Given the description of an element on the screen output the (x, y) to click on. 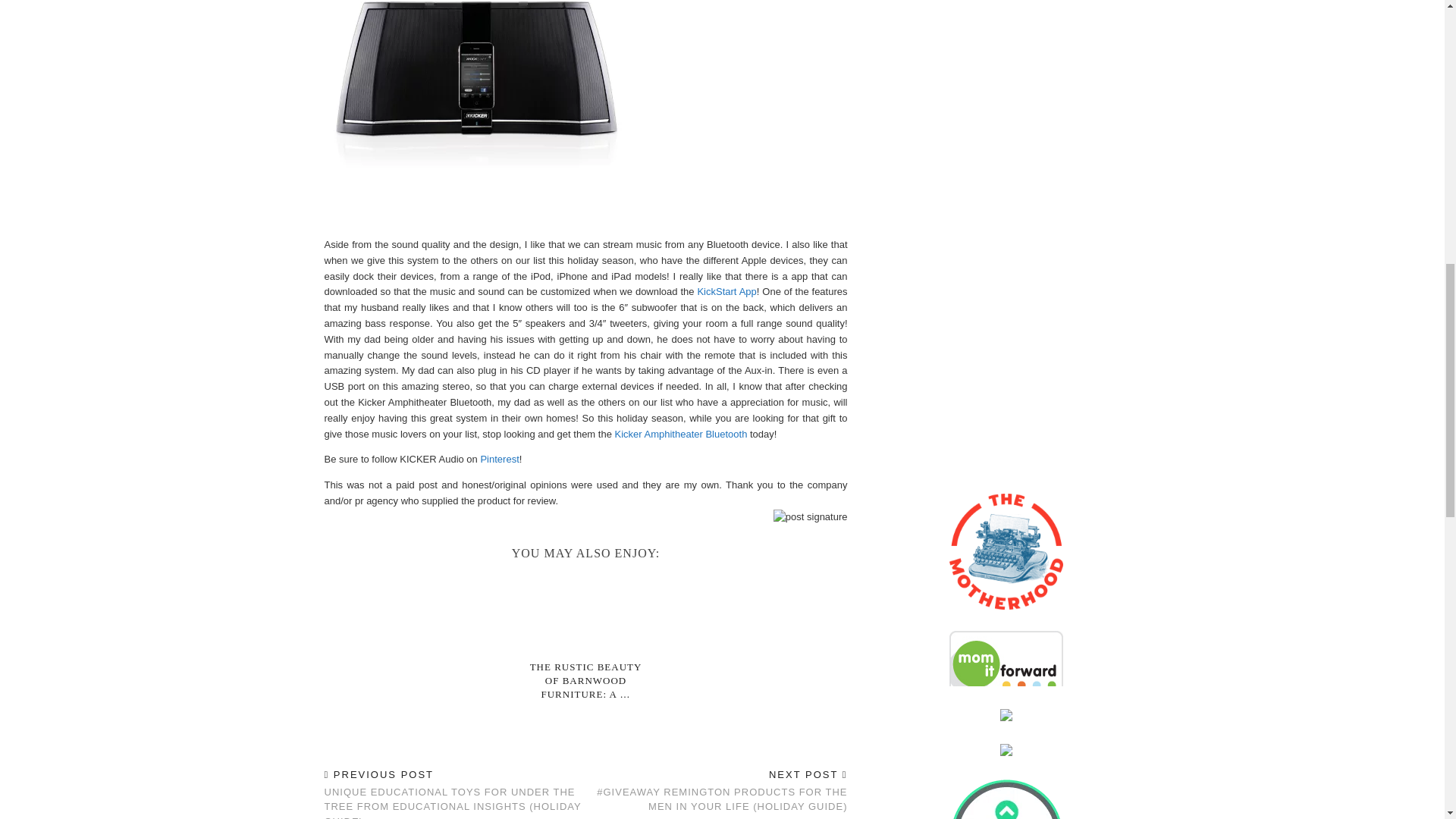
KickStart App (726, 291)
Pinterest (499, 459)
Kicker Amphitheater Bluetooth (680, 432)
I blog with The Motherhood (1005, 740)
